Given the description of an element on the screen output the (x, y) to click on. 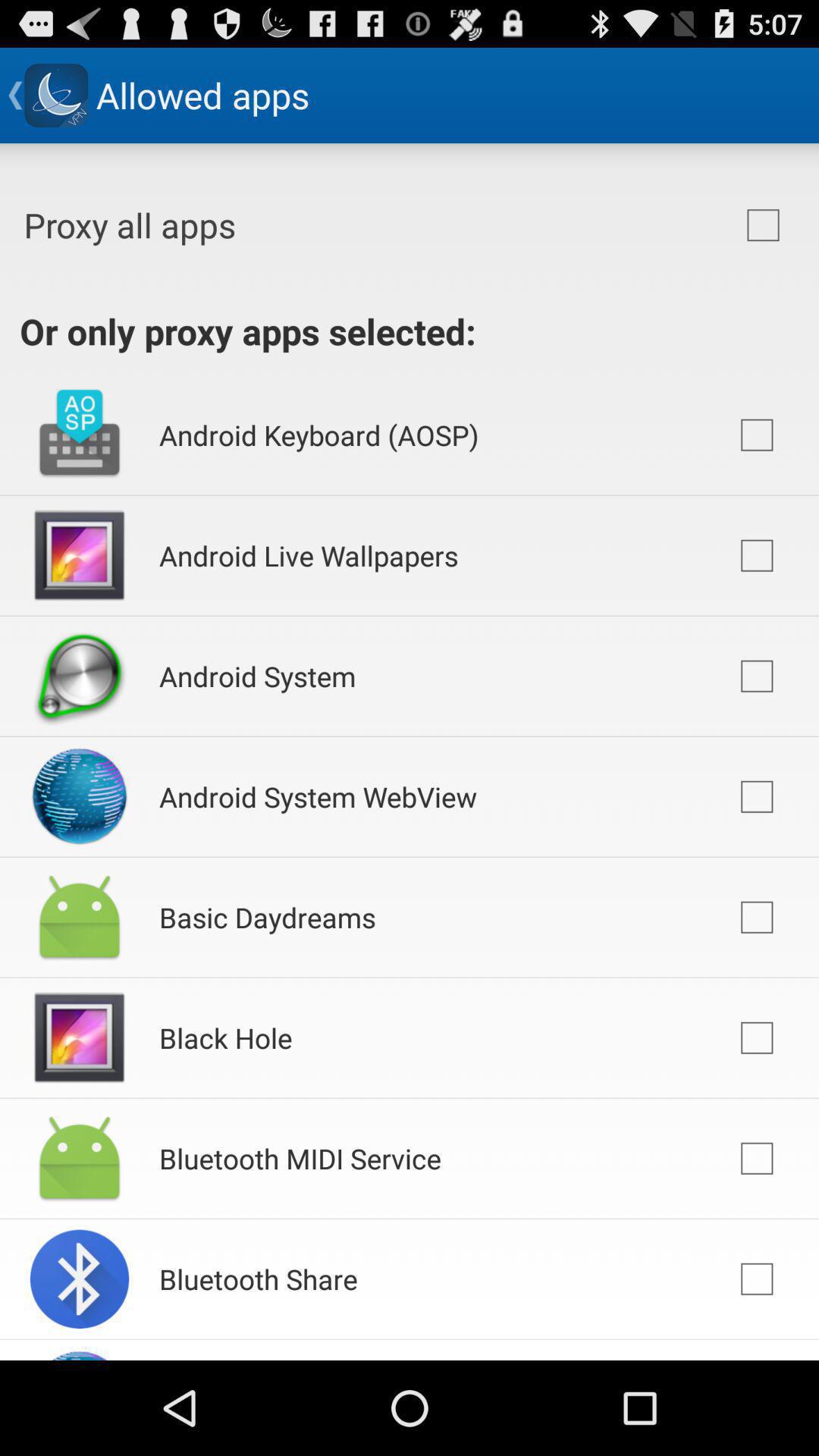
turn off the app above the android live wallpapers (318, 434)
